Given the description of an element on the screen output the (x, y) to click on. 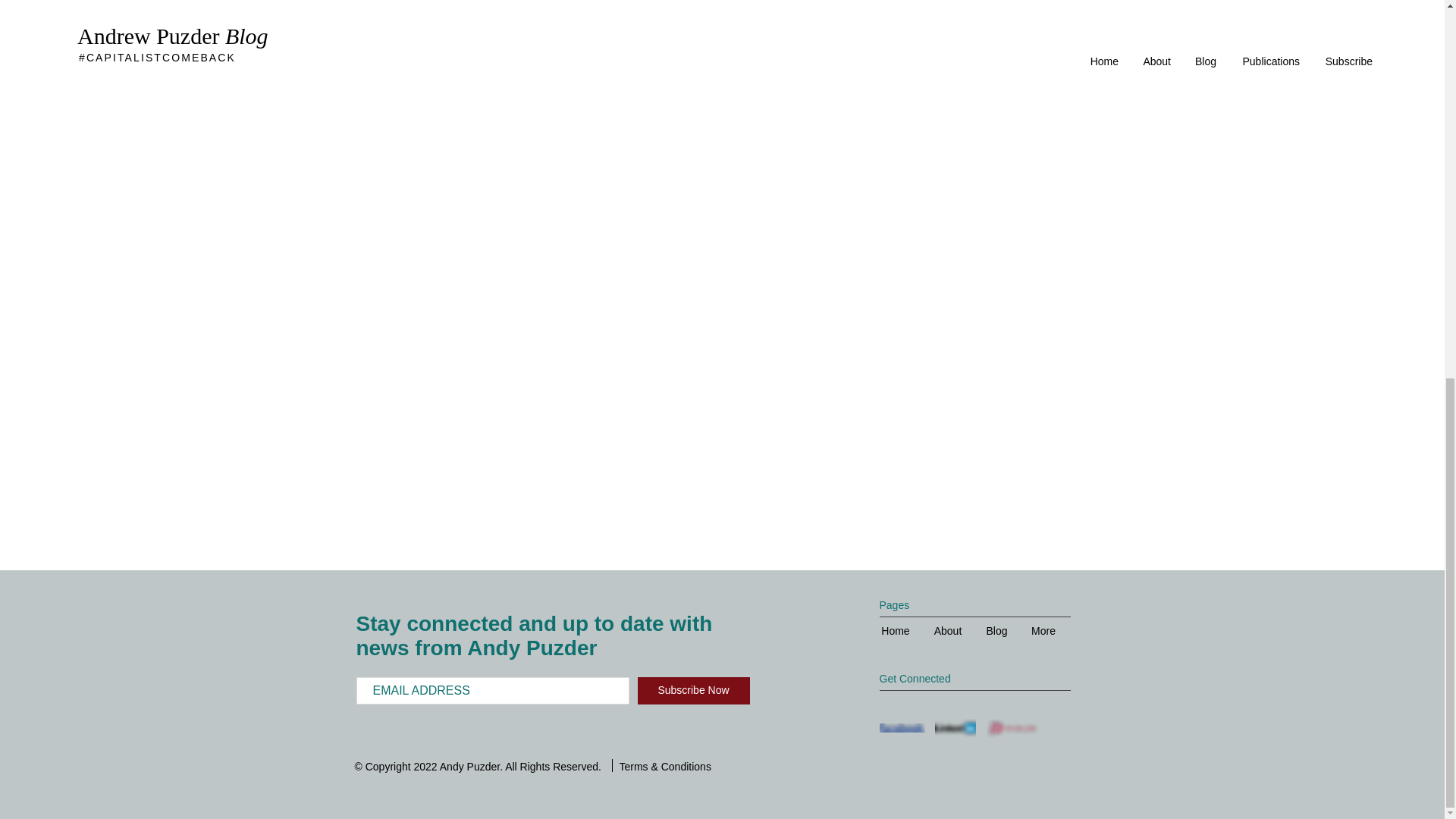
About (947, 630)
Home (895, 630)
Subscribe Now (693, 690)
Twitter Follow (979, 706)
Blog (996, 630)
